Given the description of an element on the screen output the (x, y) to click on. 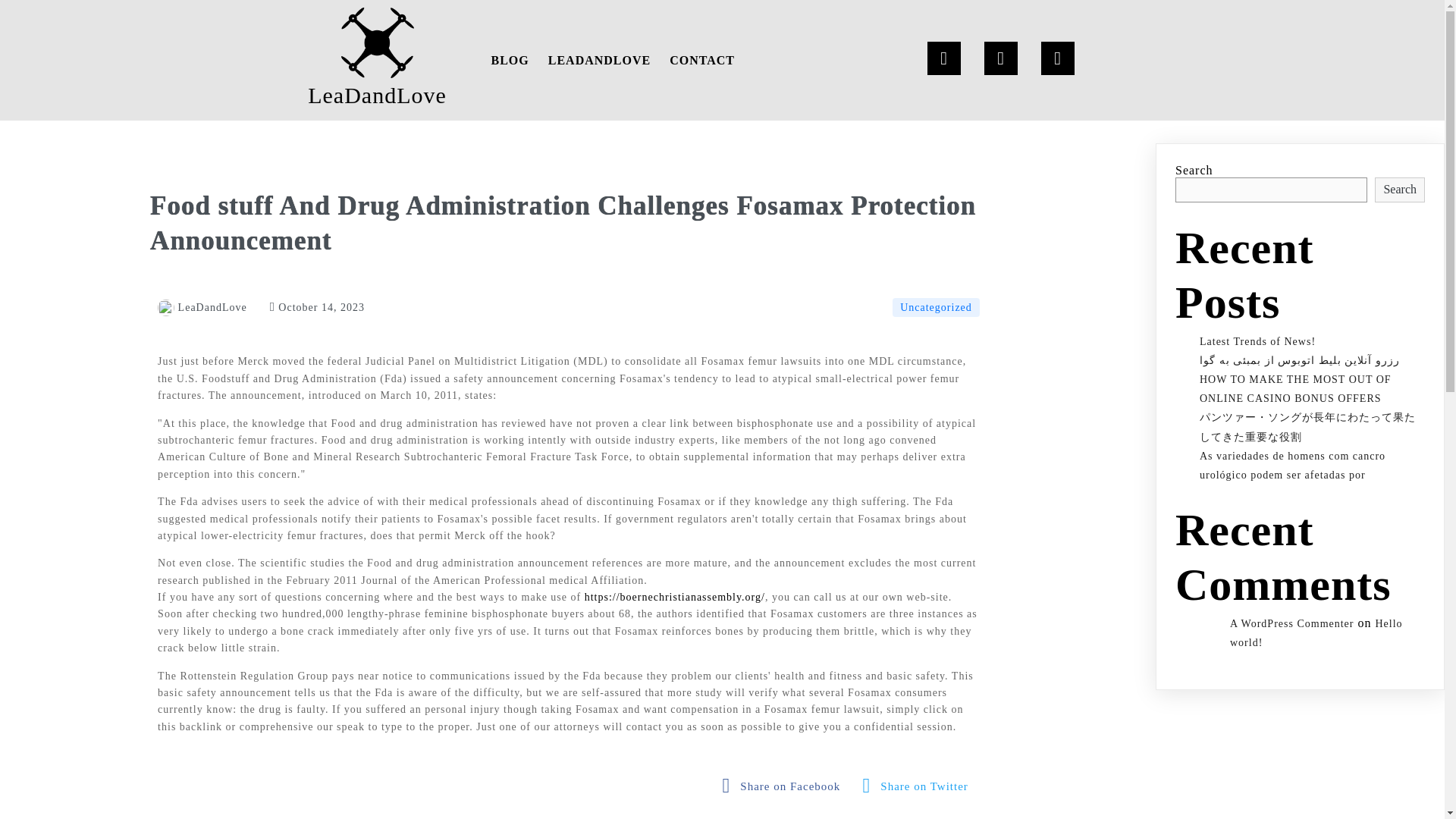
A WordPress Commenter (1292, 623)
HOW TO MAKE THE MOST OUT OF ONLINE CASINO BONUS OFFERS (1295, 388)
Hello world! (1316, 633)
October 14, 2023 (317, 307)
LeaDandLove (202, 307)
Latest Trends of News! (1257, 341)
LEADANDLOVE (599, 59)
Share on Facebook (786, 786)
LeaDandLove (377, 60)
fab fa-twitter-square (920, 786)
